Given the description of an element on the screen output the (x, y) to click on. 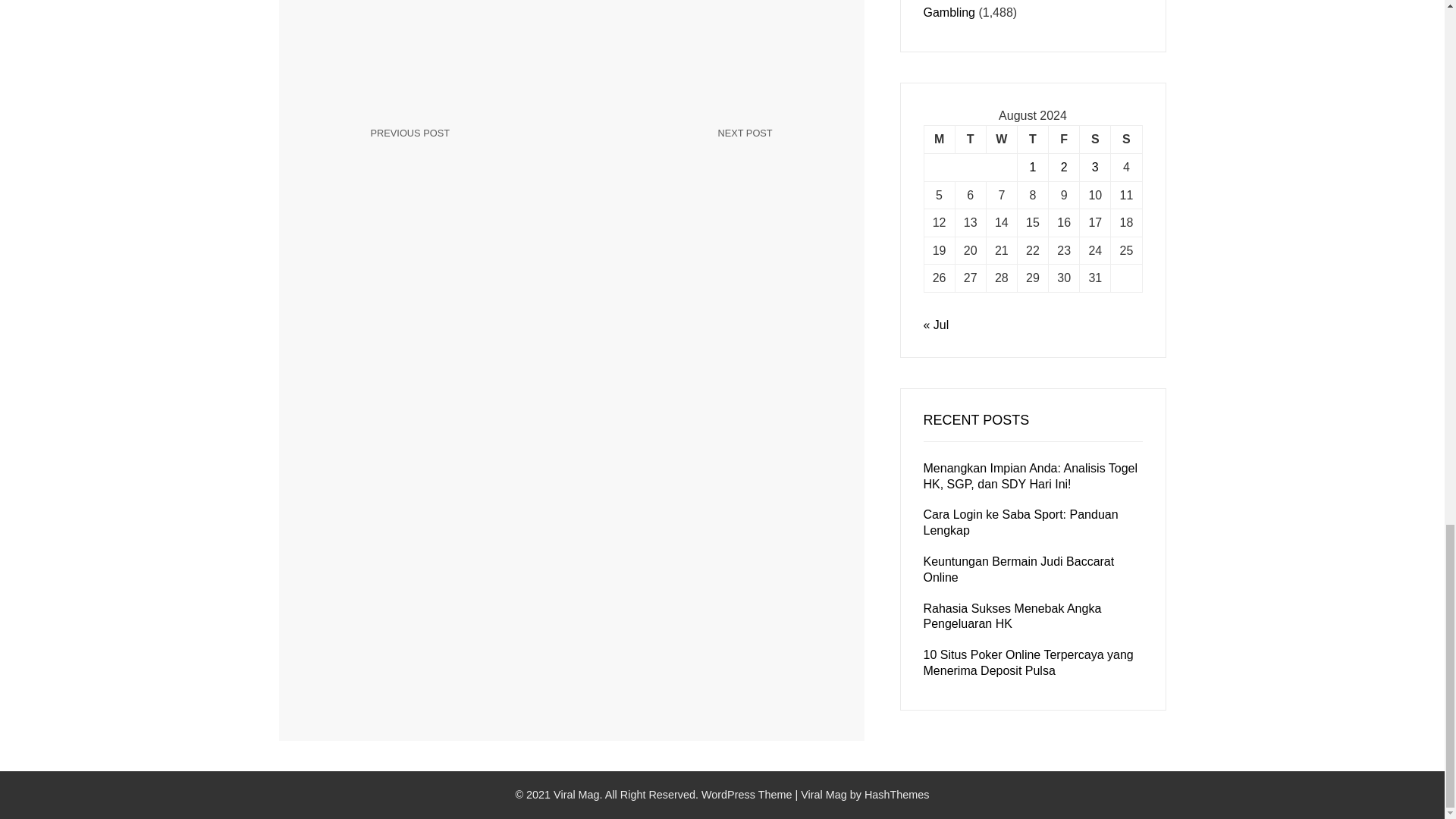
Saturday (1095, 139)
Tuesday (680, 153)
Monday (970, 139)
Friday (939, 139)
Sunday (1064, 139)
Download Viral News (1125, 139)
Thursday (462, 144)
Wednesday (823, 794)
